Given the description of an element on the screen output the (x, y) to click on. 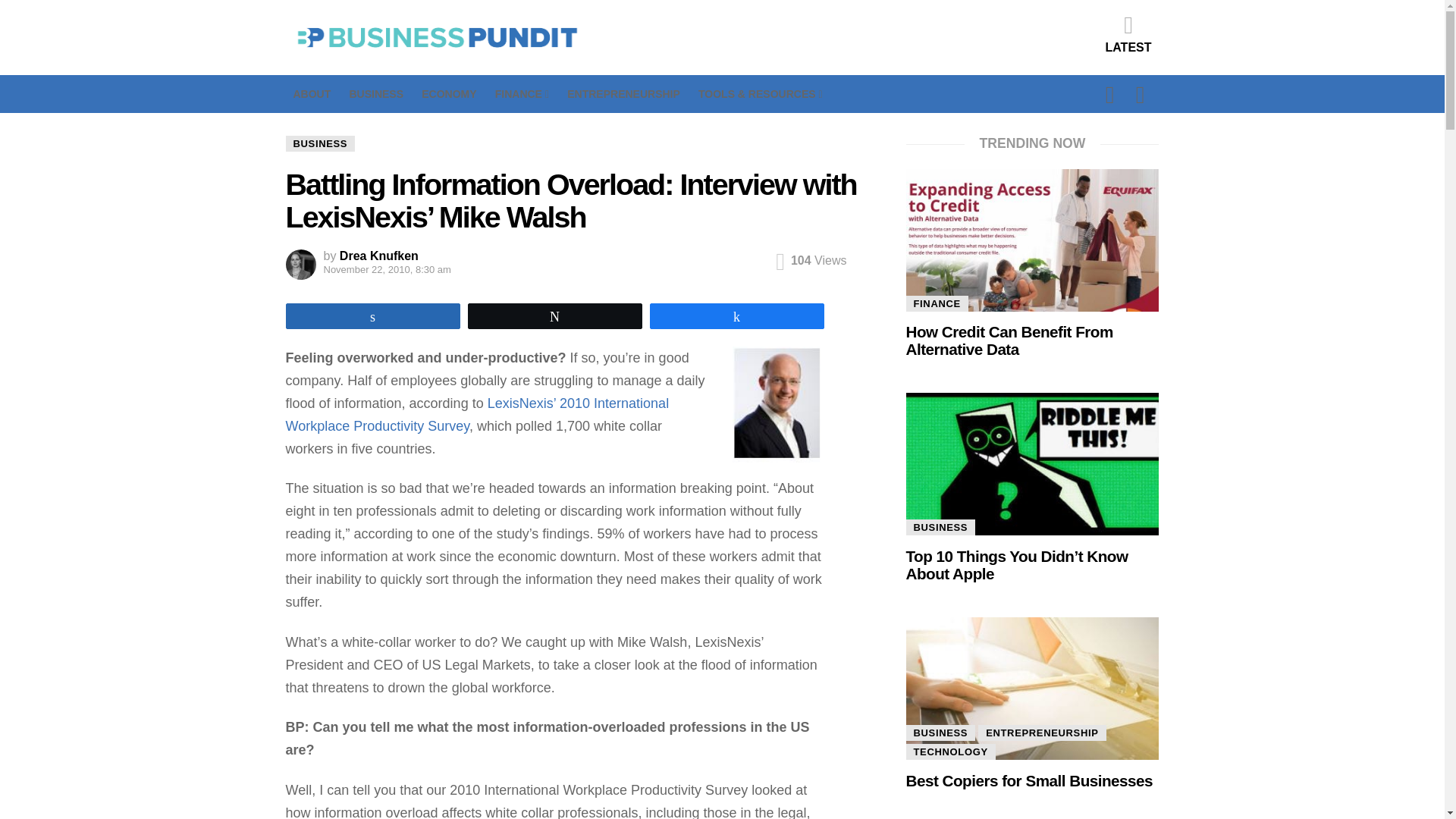
November 22, 2010, 8:30 am (355, 269)
FINANCE (521, 93)
ECONOMY (449, 93)
ENTREPRENEURSHIP (623, 93)
Drea Knufken (379, 255)
BUSINESS (320, 143)
ABOUT (311, 93)
LATEST (1127, 32)
Search (1027, 184)
BUSINESS (376, 93)
